Given the description of an element on the screen output the (x, y) to click on. 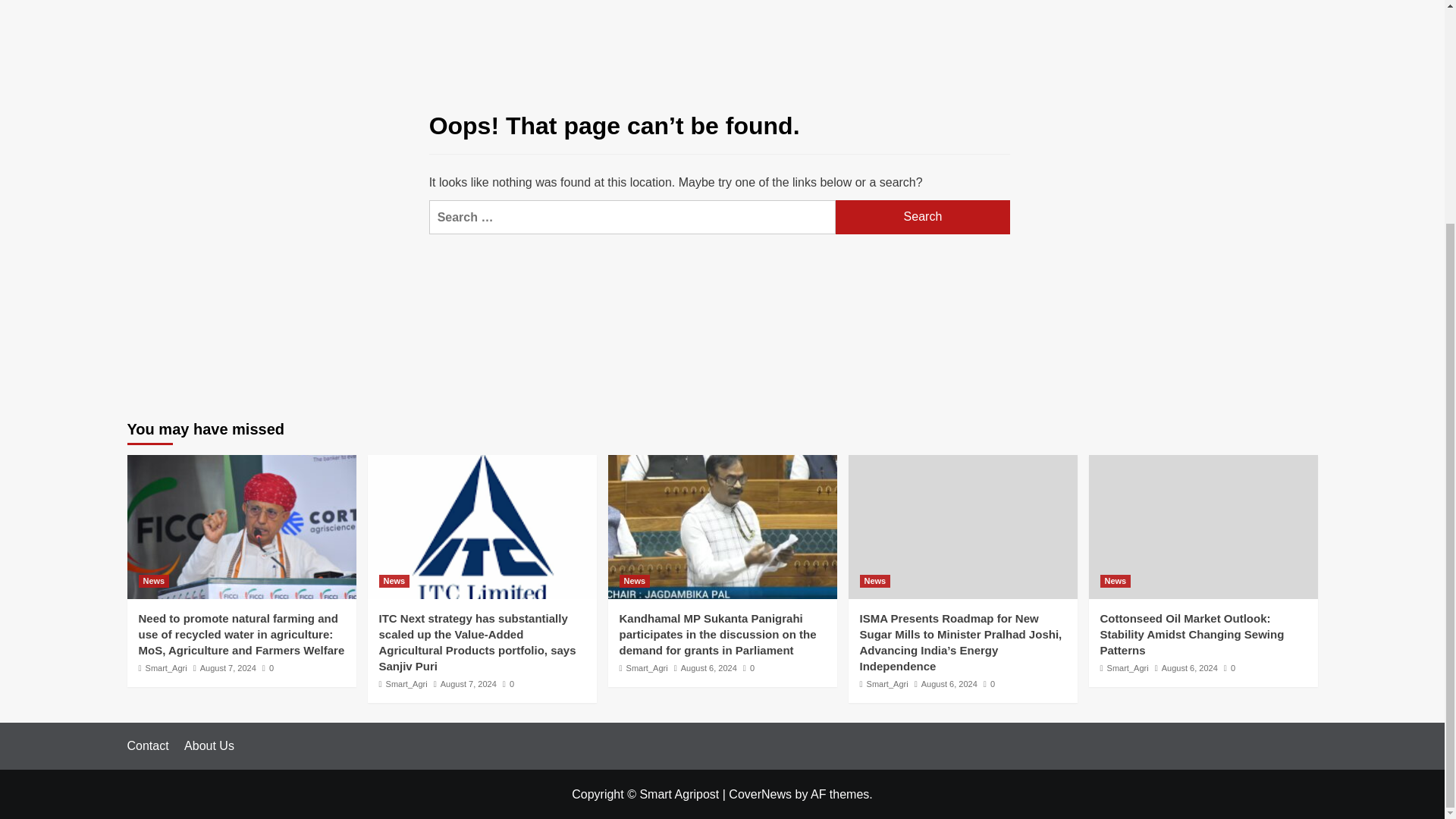
News (394, 581)
August 6, 2024 (708, 667)
Search (922, 216)
News (153, 581)
0 (507, 683)
0 (267, 667)
August 7, 2024 (228, 667)
